Given the description of an element on the screen output the (x, y) to click on. 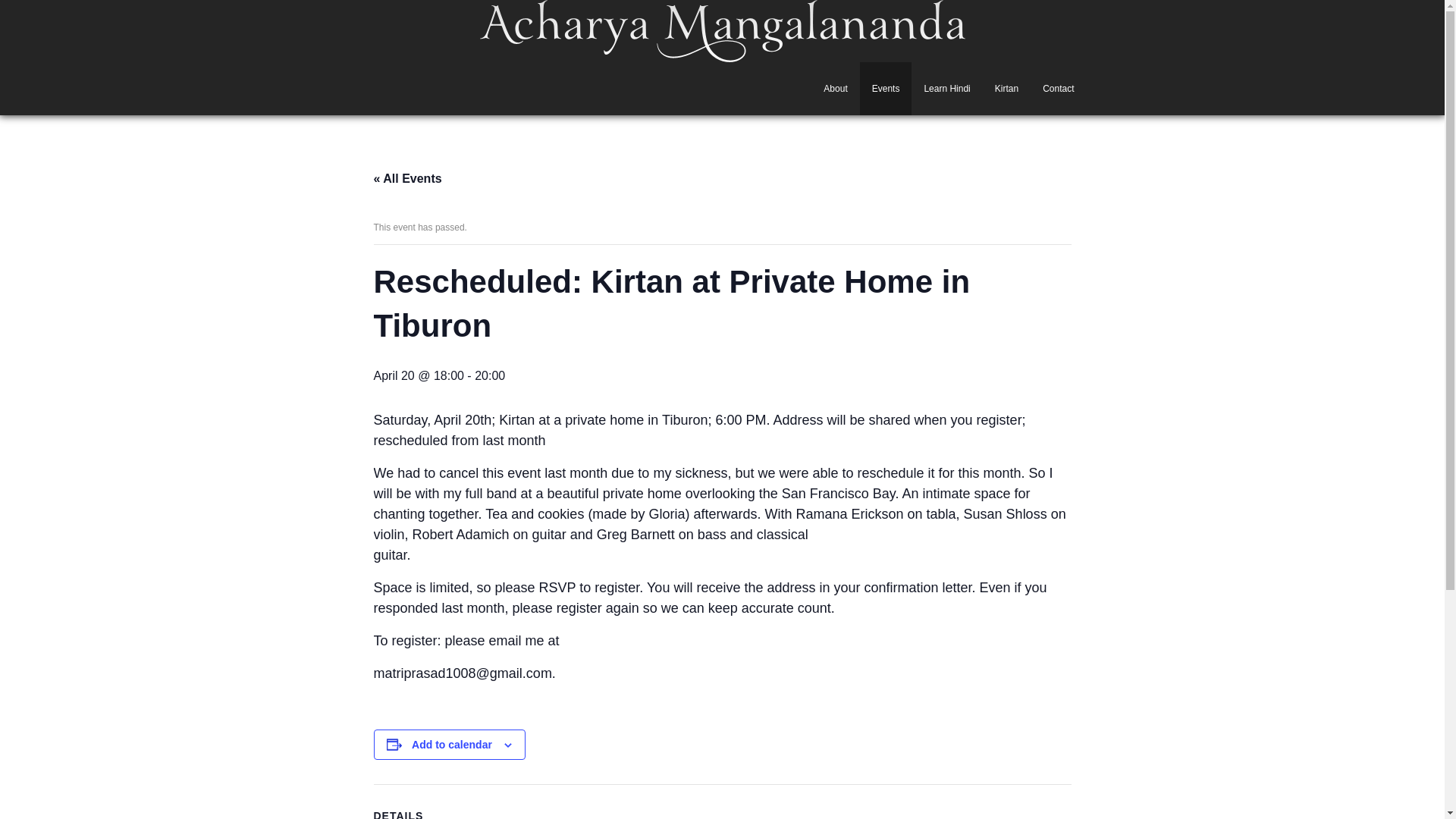
Learn Hindi (946, 88)
About (834, 88)
Kirtan (1006, 88)
Add to calendar (452, 744)
Contact (1058, 88)
Events (886, 88)
